Given the description of an element on the screen output the (x, y) to click on. 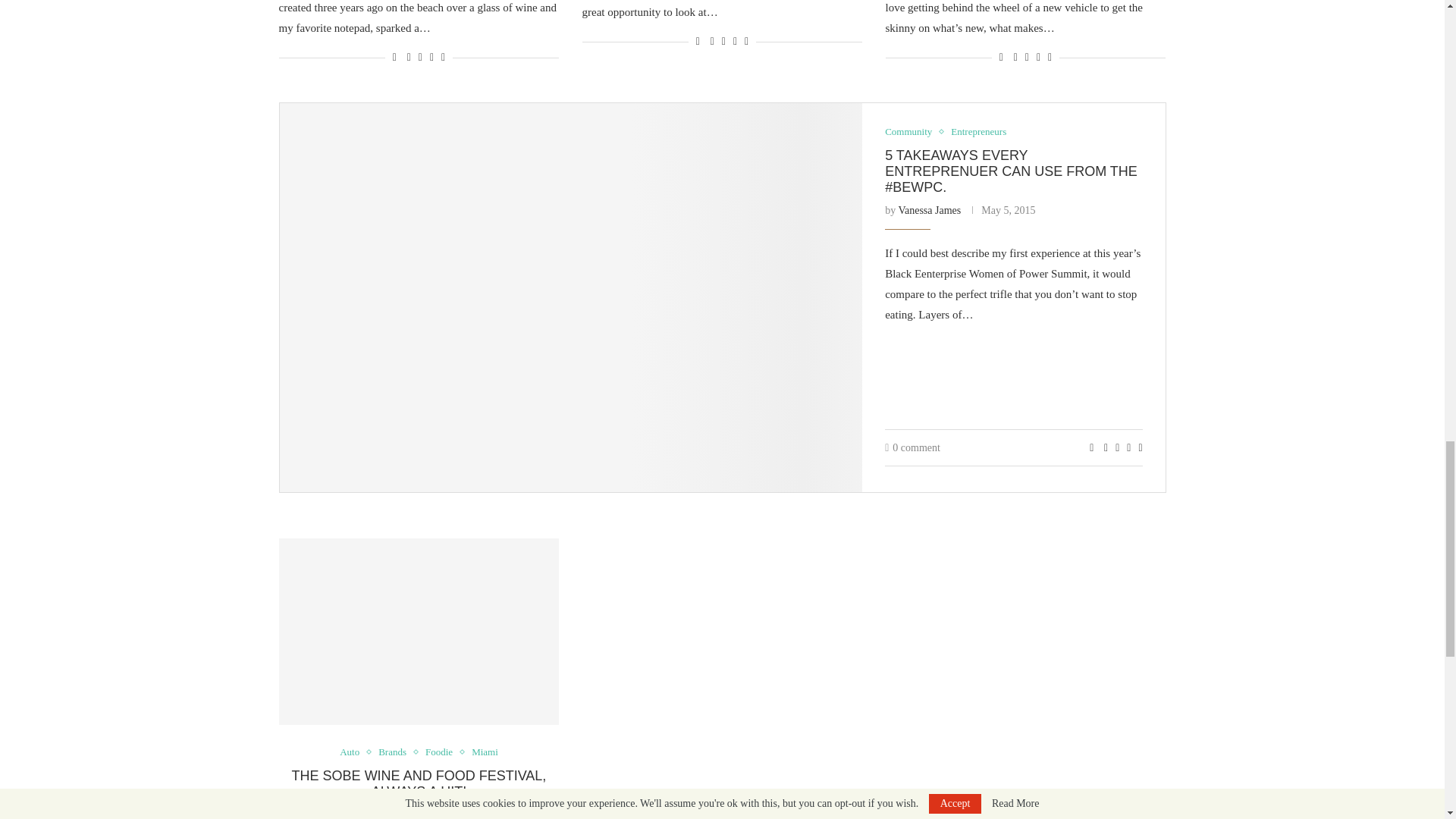
Like (697, 41)
Like (394, 57)
Like (1000, 57)
